Given the description of an element on the screen output the (x, y) to click on. 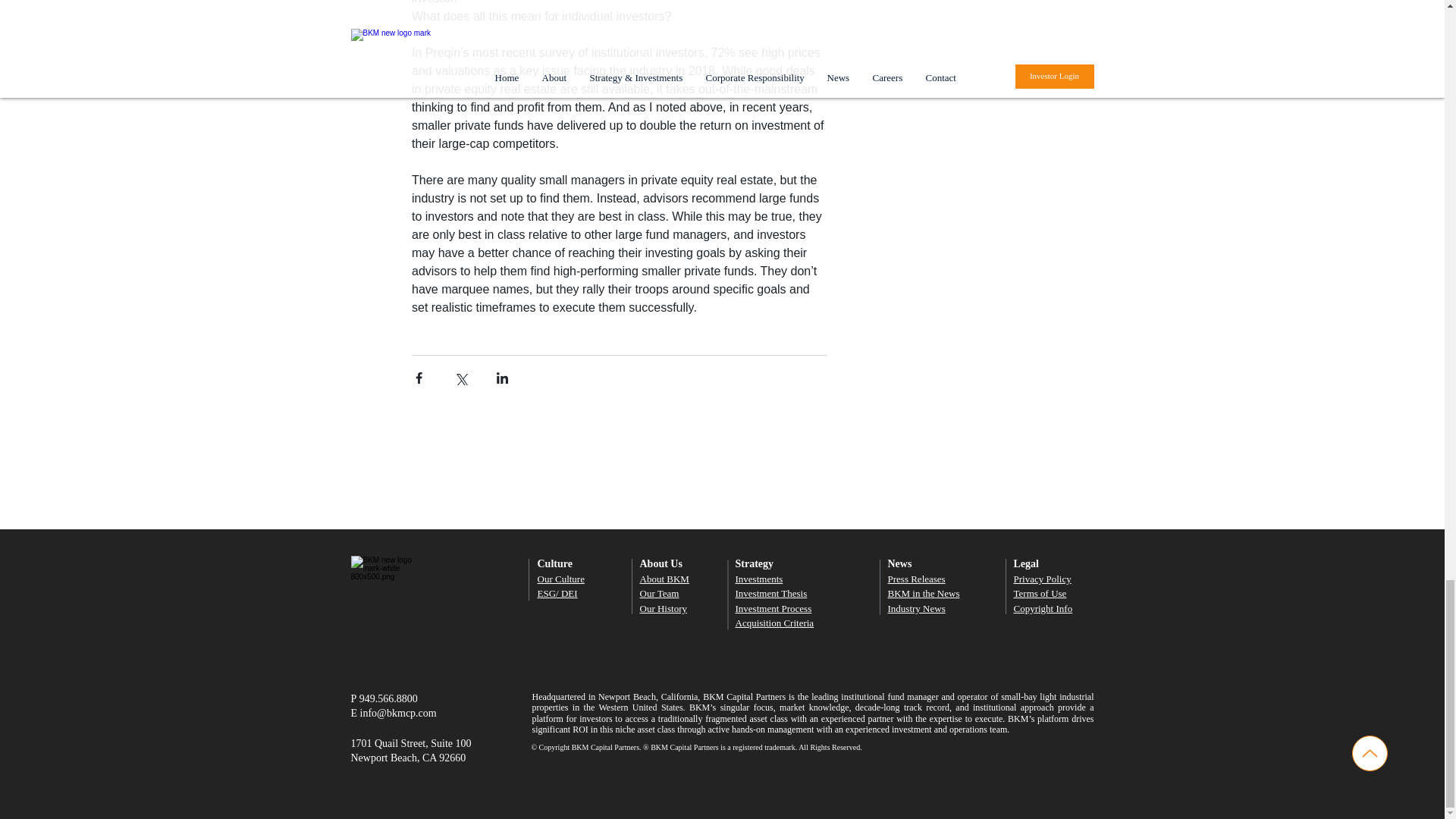
Industry News (915, 608)
BKM in the News (922, 593)
Investments (759, 578)
Our Team (659, 593)
Investment Thesis (771, 593)
About BKM (664, 578)
Acquisition Criteria (774, 622)
Investment Process (773, 608)
Our Culture (560, 578)
Press Releases (915, 578)
